Given the description of an element on the screen output the (x, y) to click on. 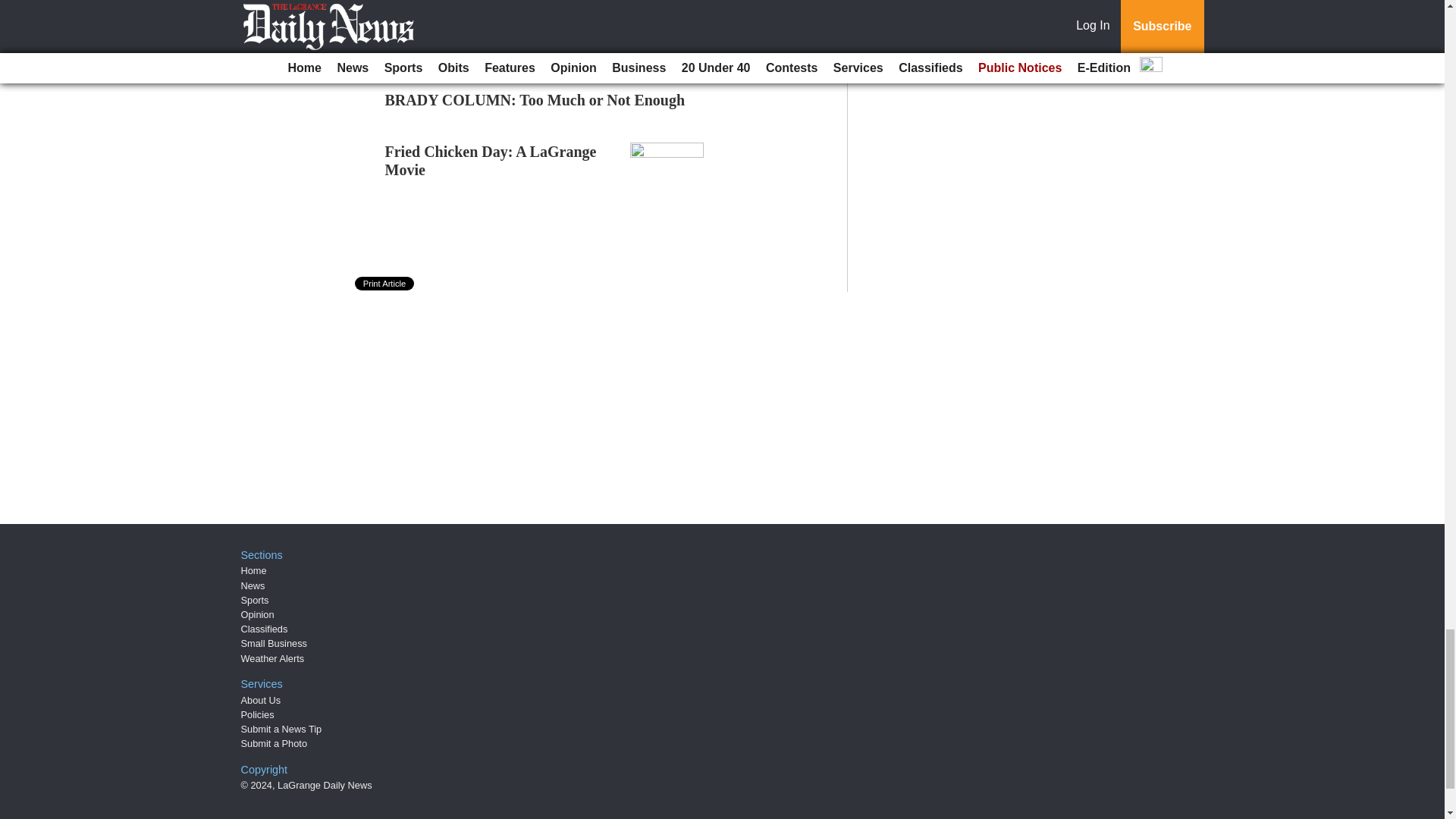
First Presbyterian announces grant opportunities (544, 48)
Print Article (384, 283)
First Presbyterian announces grant opportunities (544, 48)
Home (253, 570)
BRADY COLUMN: Too Much or Not Enough (535, 99)
Fried Chicken Day: A LaGrange Movie (490, 160)
Fried Chicken Day: A LaGrange Movie (490, 160)
BRADY COLUMN: Too Much or Not Enough (535, 99)
